Given the description of an element on the screen output the (x, y) to click on. 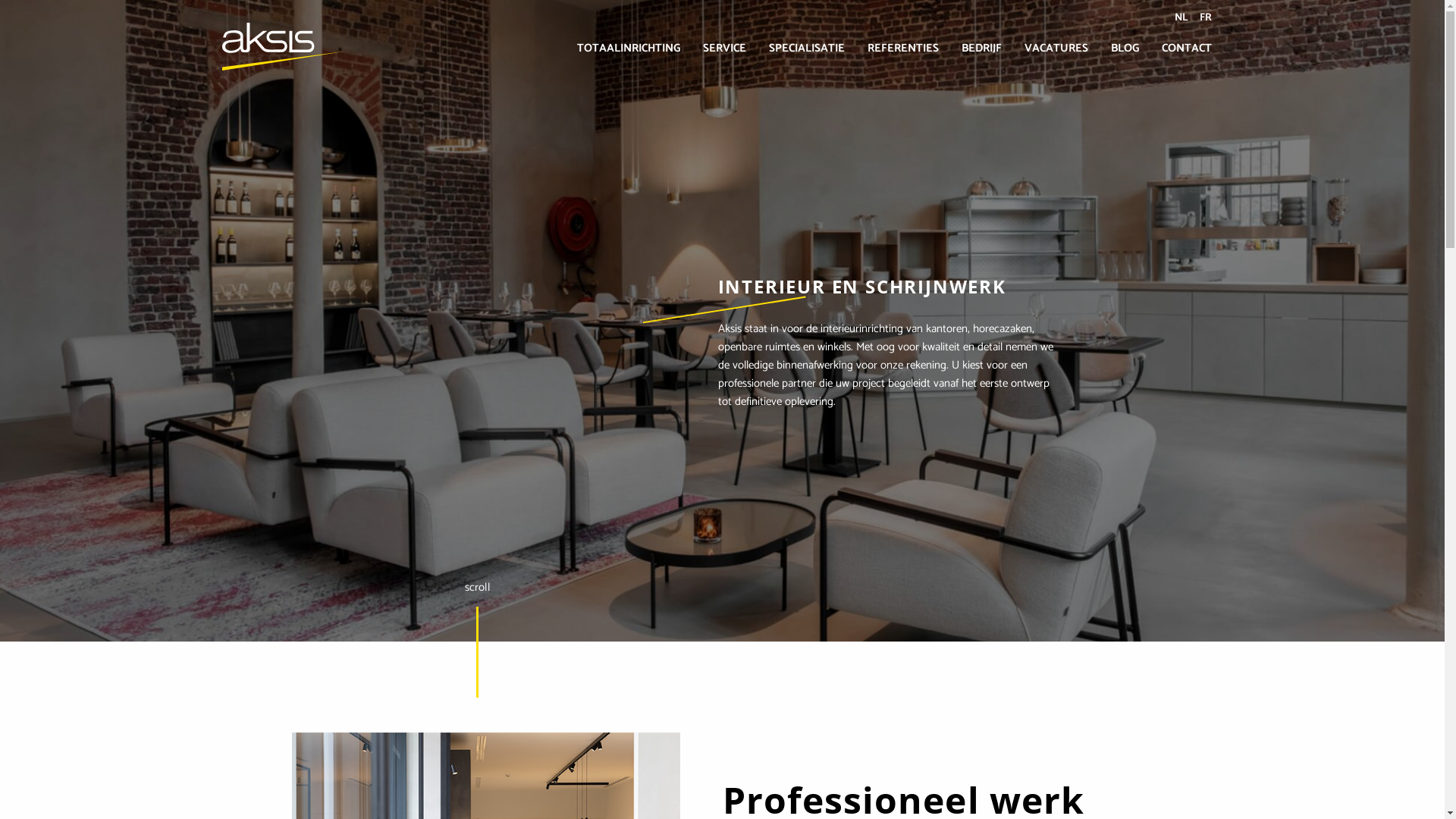
SPECIALISATIE Element type: text (805, 48)
VACATURES Element type: text (1056, 48)
Overslaan en naar de inhoud gaan Element type: text (0, 0)
SERVICE Element type: text (724, 48)
TOTAALINRICHTING Element type: text (628, 48)
REFERENTIES Element type: text (902, 48)
BEDRIJF Element type: text (980, 48)
FR Element type: text (1204, 17)
NL Element type: text (1181, 17)
BLOG Element type: text (1124, 48)
CONTACT Element type: text (1185, 48)
Home Element type: hover (282, 66)
